Given the description of an element on the screen output the (x, y) to click on. 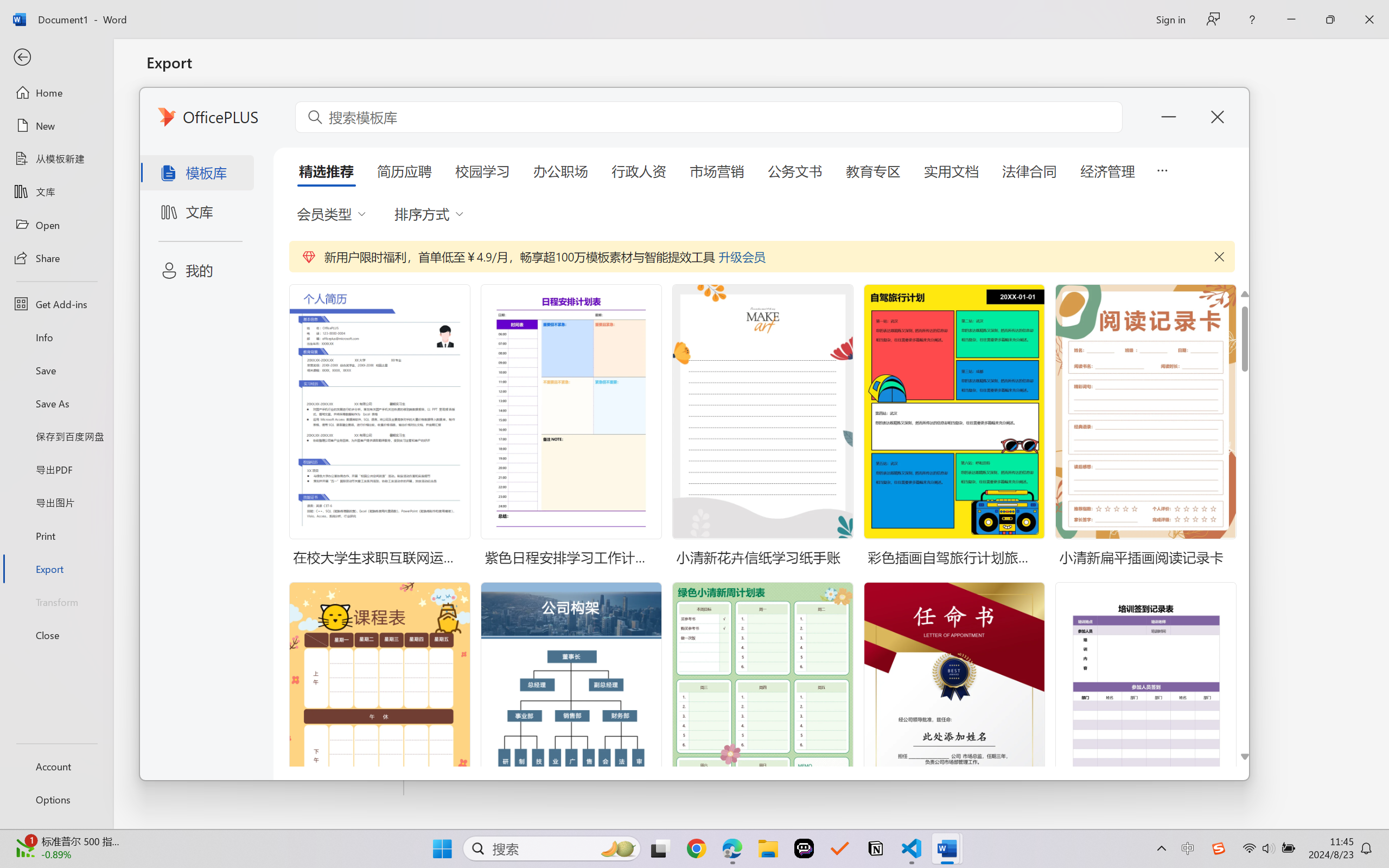
Create PDF/XPS (464, 216)
5 more tabs (1161, 169)
Save As (56, 403)
Back (56, 57)
Send documents to Kindle (275, 205)
